Given the description of an element on the screen output the (x, y) to click on. 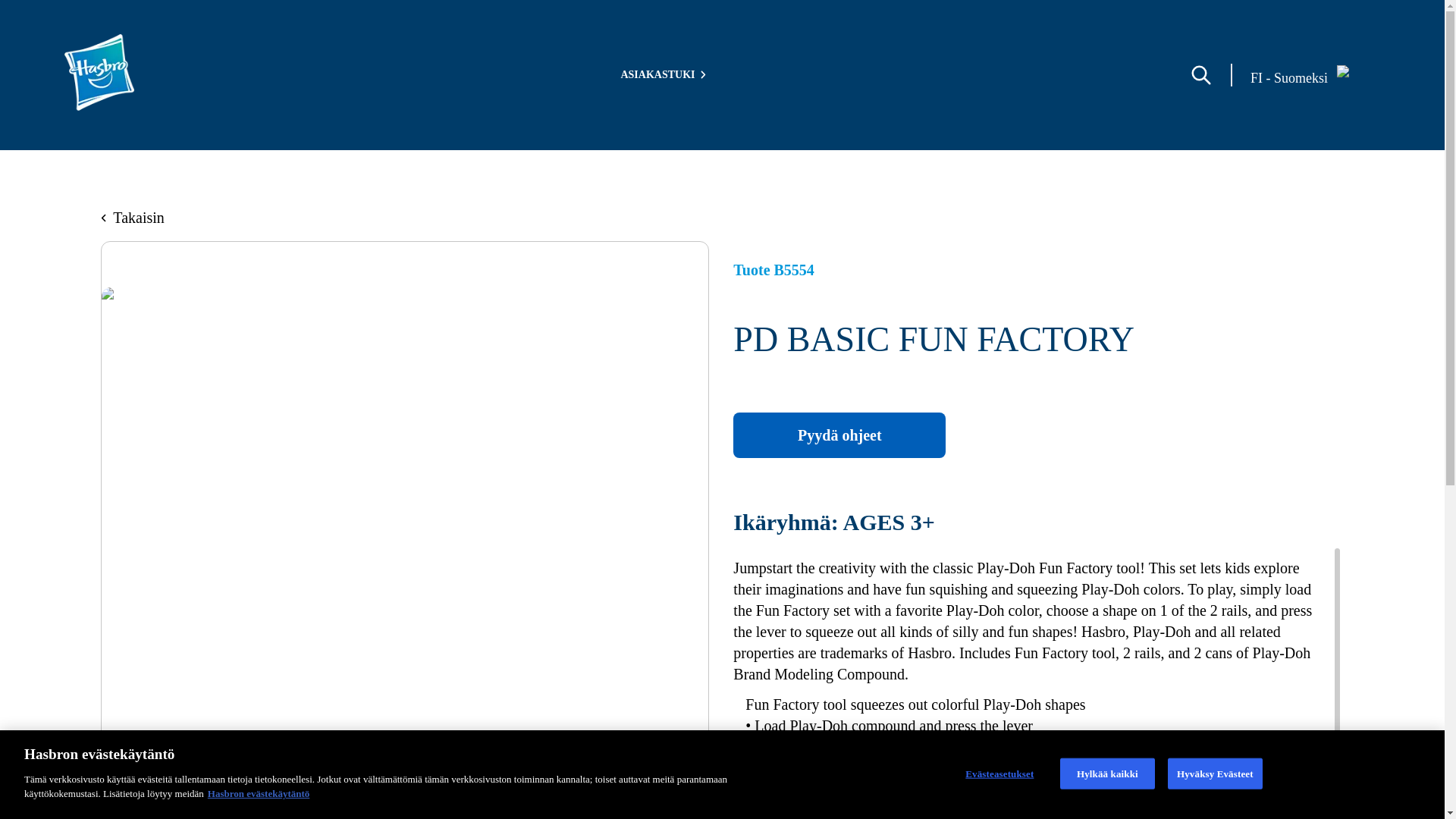
FI - Suomeksi (1317, 74)
